Given the description of an element on the screen output the (x, y) to click on. 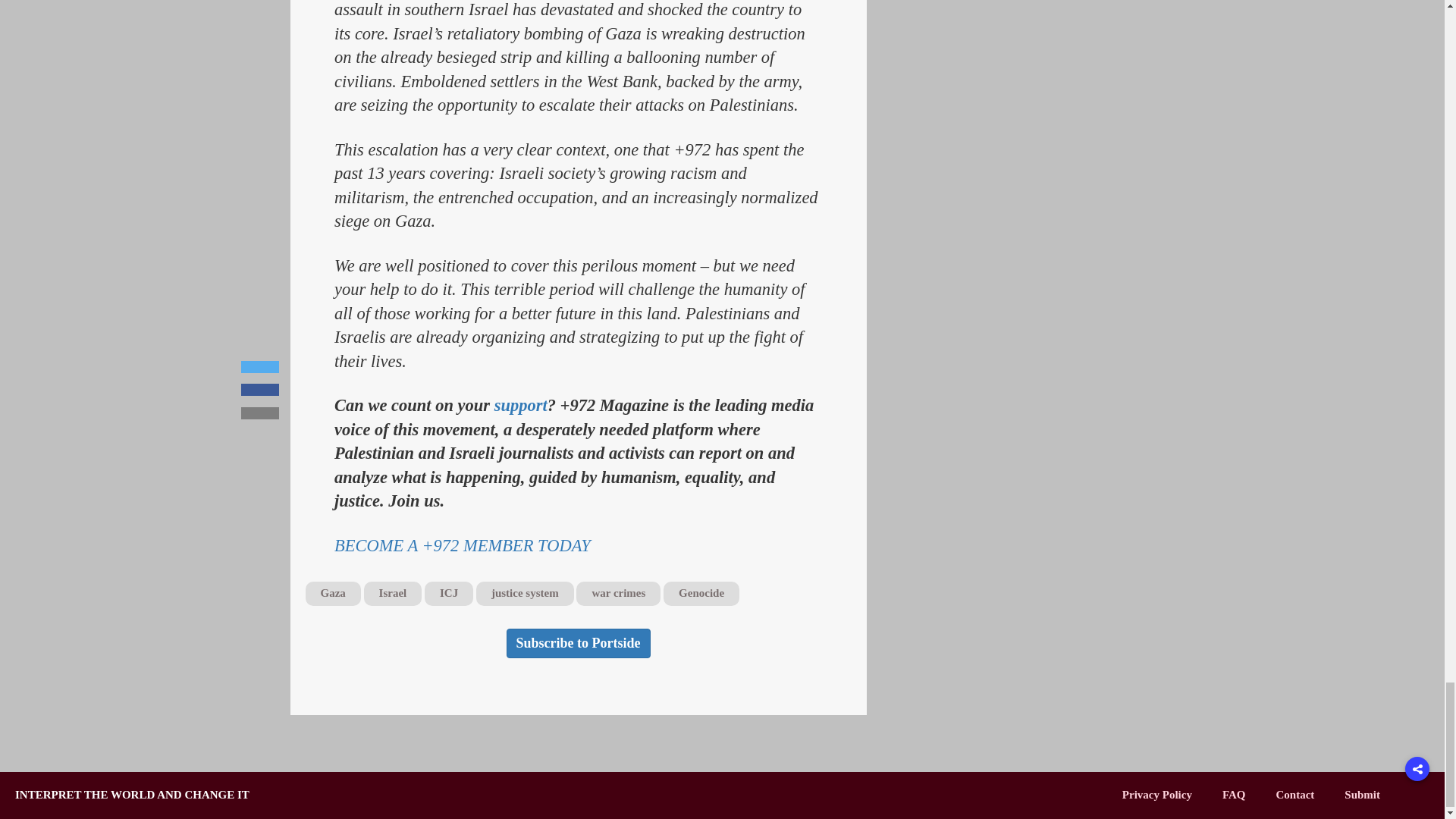
support (521, 404)
Submit an article to Portside (1361, 794)
Frequently Asked Questions (1234, 794)
